Given the description of an element on the screen output the (x, y) to click on. 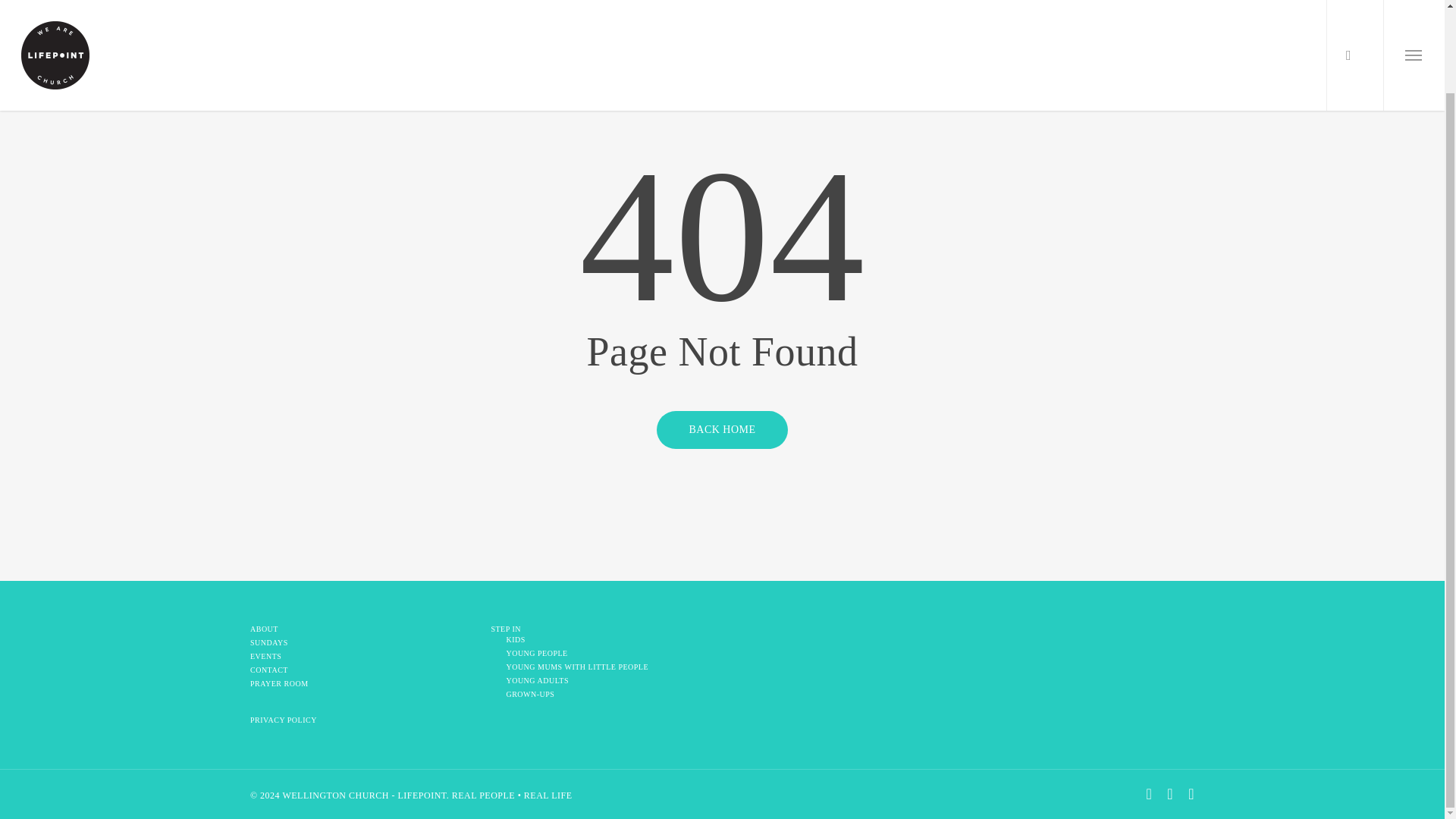
PRAYER ROOM (360, 683)
ABOUT (360, 629)
YOUNG PEOPLE (609, 653)
STEP IN (601, 629)
YOUNG MUMS WITH LITTLE PEOPLE (609, 666)
KIDS (609, 639)
PRIVACY POLICY (360, 719)
YOUNG ADULTS (609, 680)
GROWN-UPS (609, 694)
BACK HOME (721, 429)
